Given the description of an element on the screen output the (x, y) to click on. 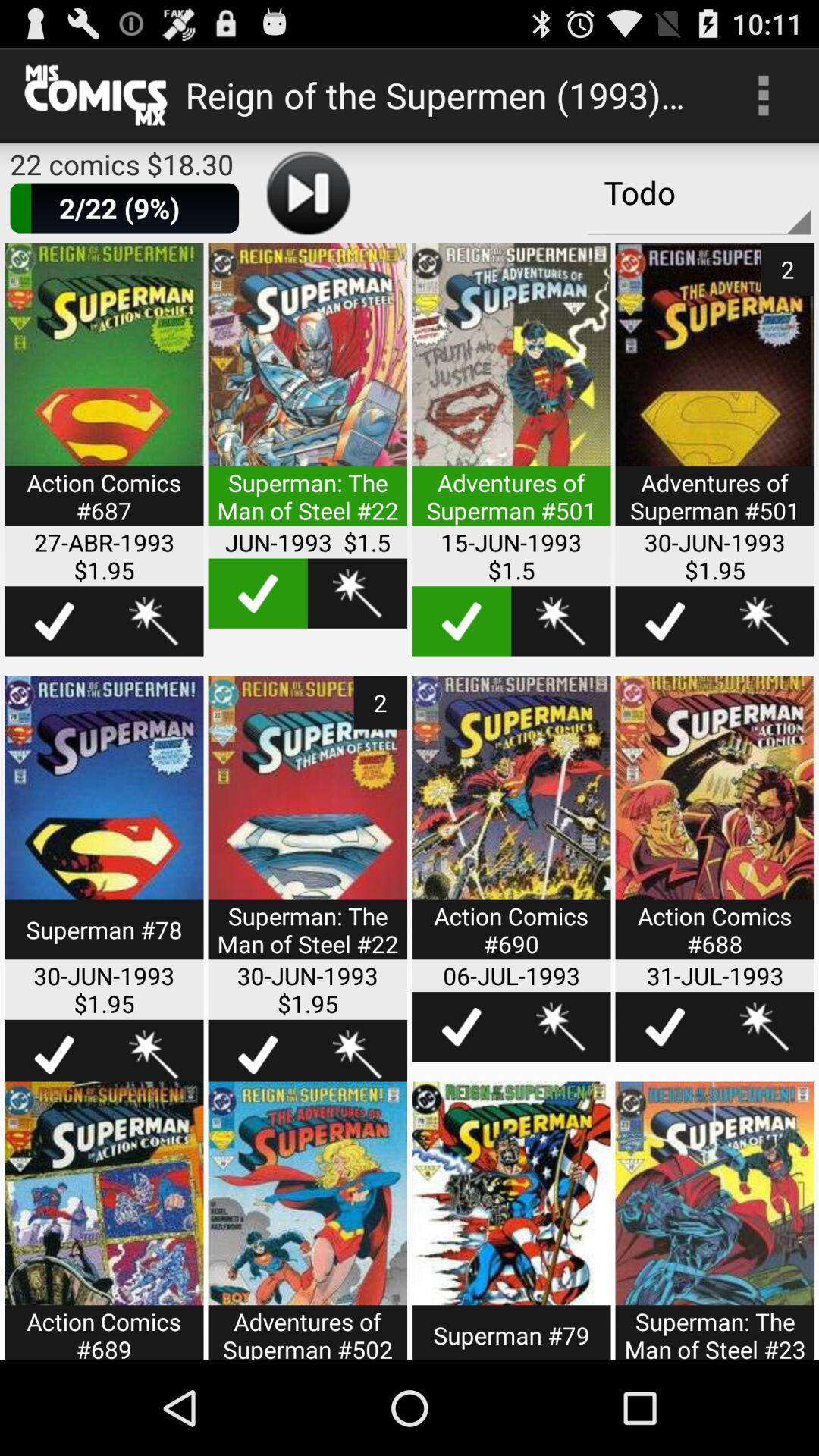
go to select option (257, 593)
